Given the description of an element on the screen output the (x, y) to click on. 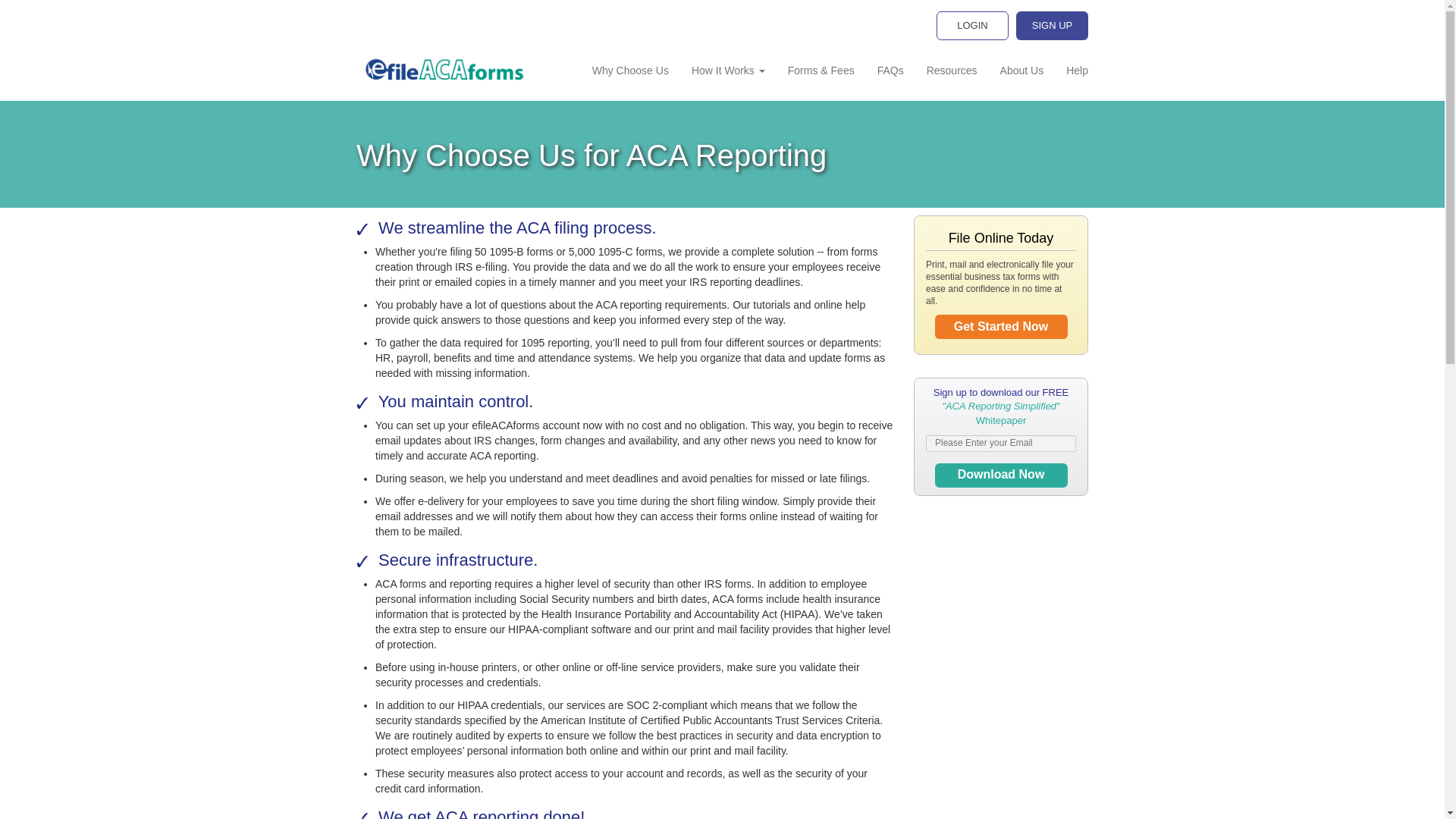
Help (1070, 70)
FAQs (890, 70)
Resources (951, 70)
Get Started Now (1000, 326)
LOGIN (972, 25)
About Us (1021, 70)
SIGN UP (1051, 25)
How It Works (727, 70)
Why Choose Us (629, 70)
Download Now (1000, 475)
